Given the description of an element on the screen output the (x, y) to click on. 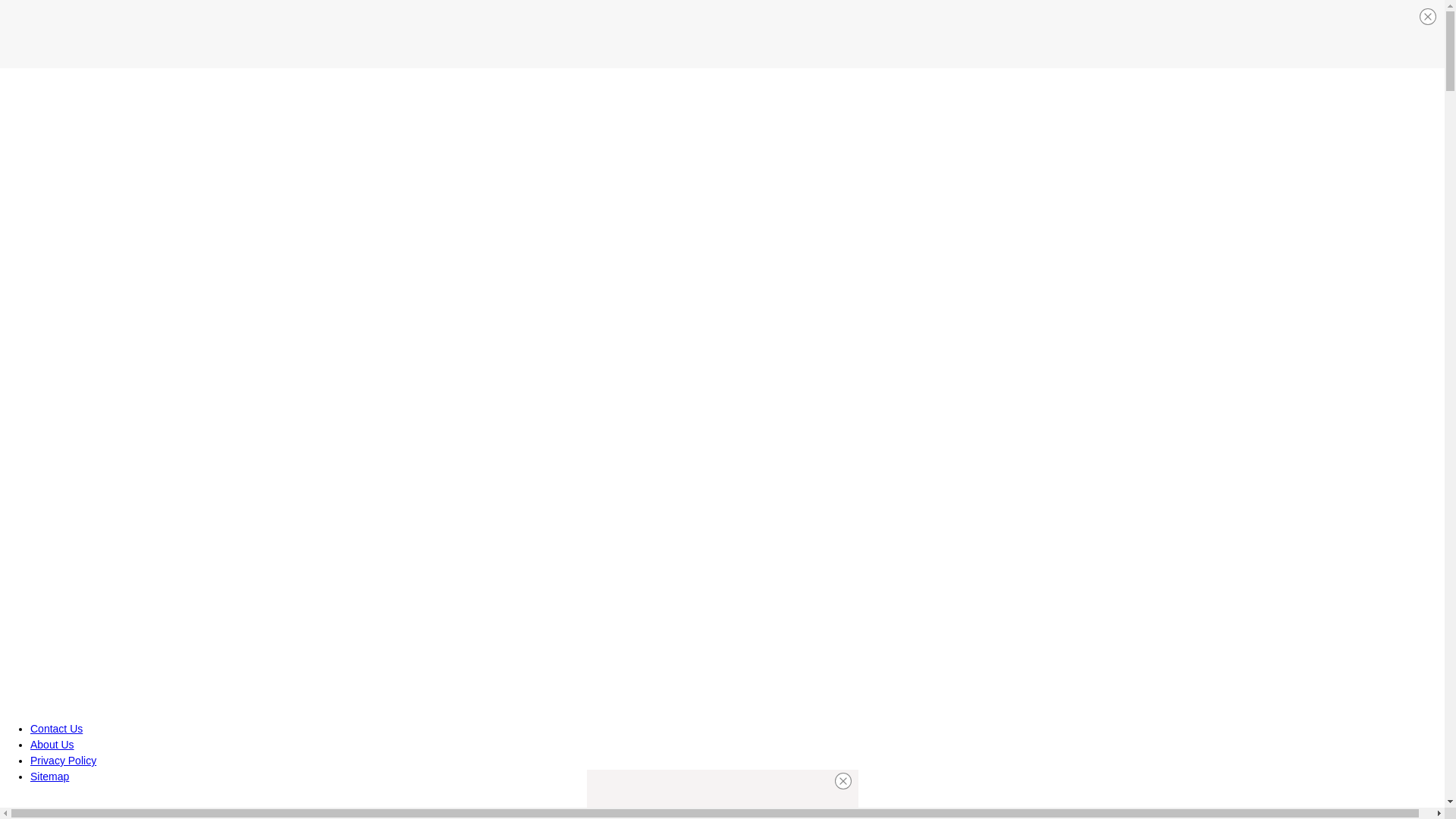
Where Facts Are Born (103, 807)
3rd party ad content (721, 33)
